Given the description of an element on the screen output the (x, y) to click on. 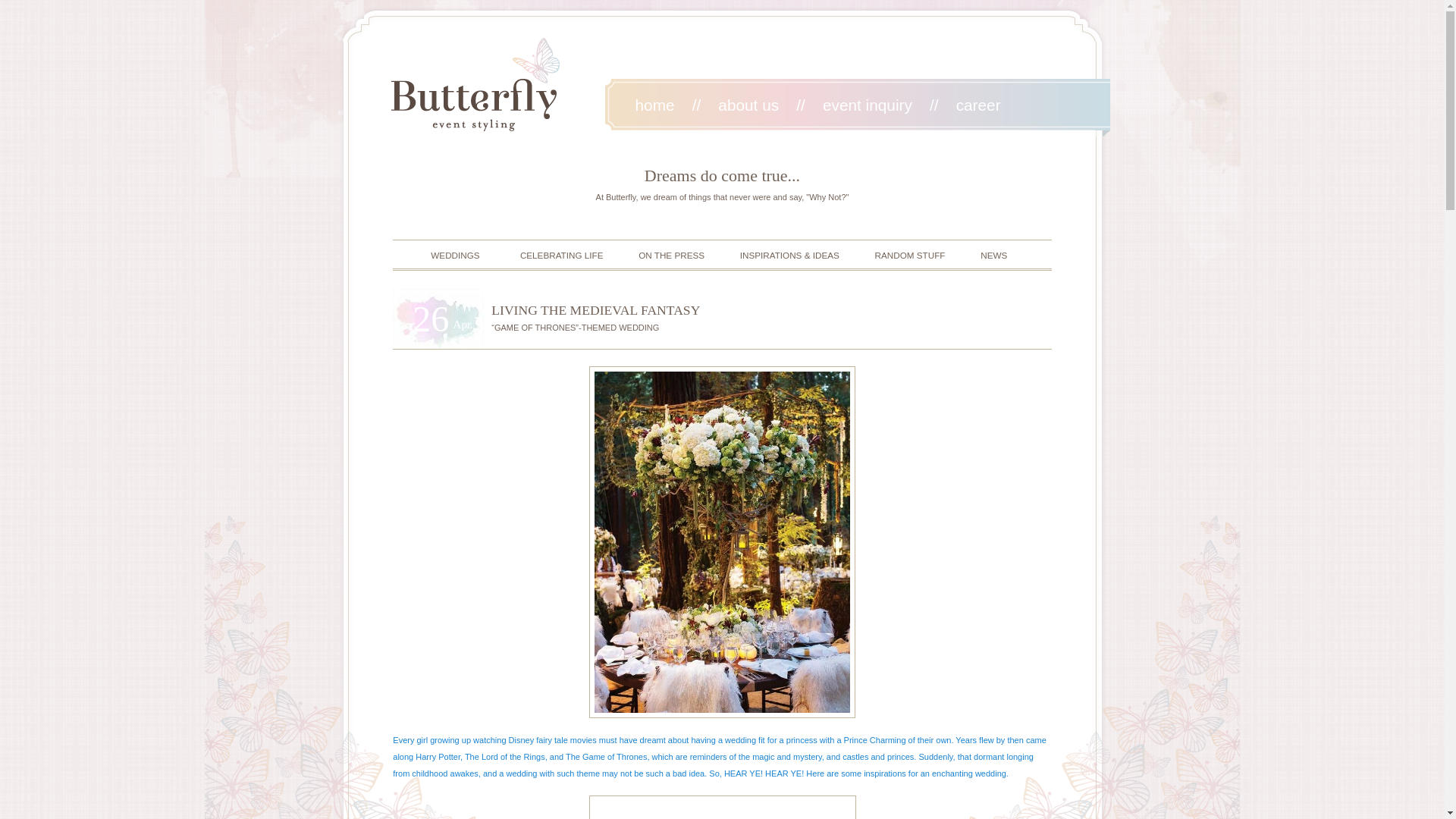
NEWS (993, 260)
RANDOM STUFF (909, 260)
LIVING THE MEDIEVAL FANTASY (596, 309)
ON THE PRESS (671, 260)
  CELEBRATING LIFE (559, 260)
       WEDDINGS (446, 260)
career (978, 104)
Butterfly Event Styling (474, 83)
Permalink to Living the Medieval Fantasy (596, 309)
